Given the description of an element on the screen output the (x, y) to click on. 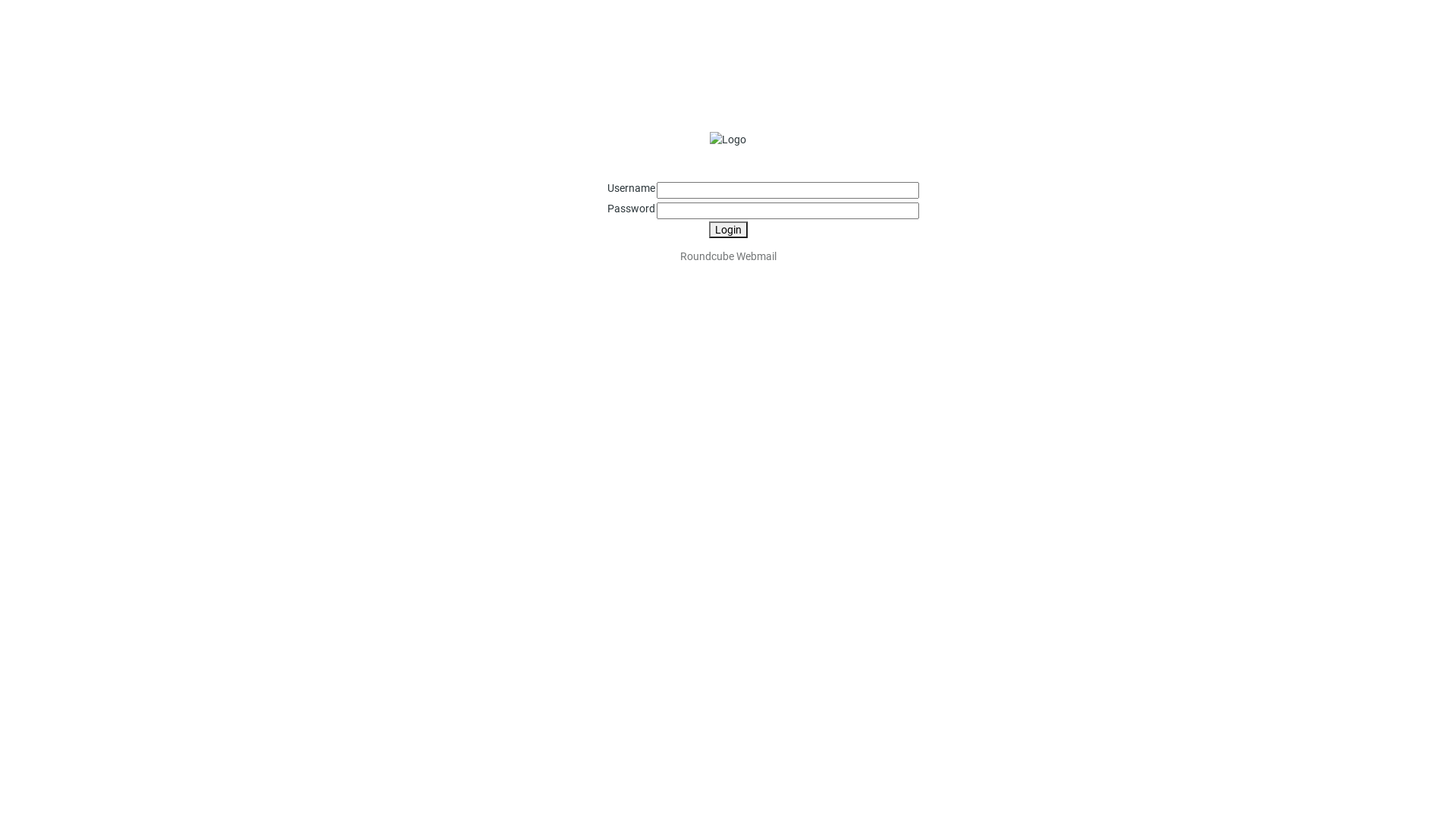
Login Element type: text (727, 229)
